Given the description of an element on the screen output the (x, y) to click on. 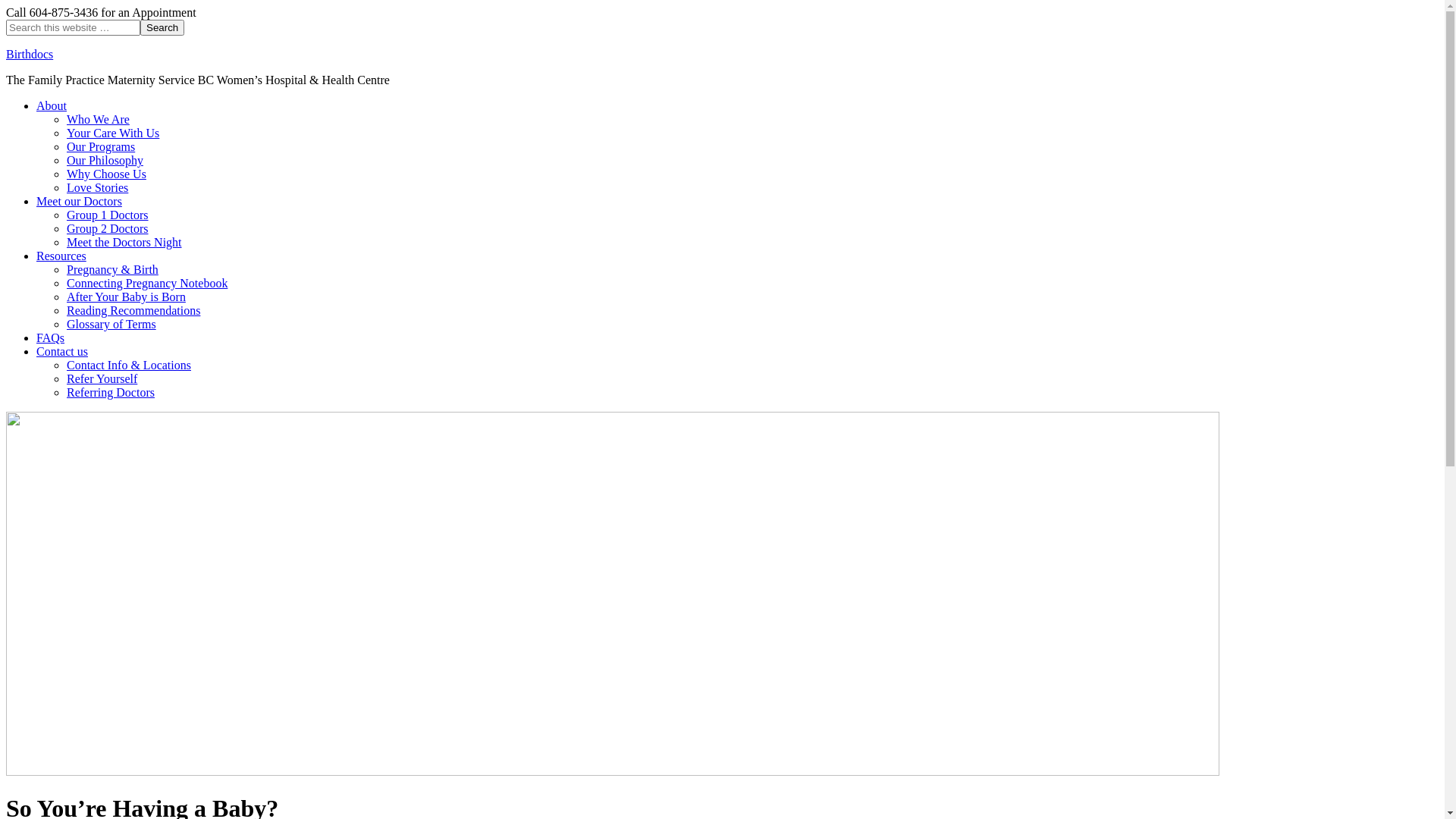
Reading Recommendations Element type: text (133, 310)
Birthdocs Element type: text (29, 53)
Why Choose Us Element type: text (106, 173)
Contact Info & Locations Element type: text (128, 364)
About Element type: text (51, 105)
Who We Are Element type: text (97, 118)
Love Stories Element type: text (97, 187)
Our Philosophy Element type: text (104, 159)
Meet our Doctors Element type: text (79, 200)
Meet the Doctors Night Element type: text (124, 241)
Search Element type: text (162, 27)
Group 2 Doctors Element type: text (107, 228)
Connecting Pregnancy Notebook Element type: text (146, 282)
Your Care With Us Element type: text (112, 132)
Contact us Element type: text (61, 351)
Referring Doctors Element type: text (110, 391)
Glossary of Terms Element type: text (111, 323)
Group 1 Doctors Element type: text (107, 214)
After Your Baby is Born Element type: text (125, 296)
FAQs Element type: text (50, 337)
Refer Yourself Element type: text (101, 378)
Our Programs Element type: text (100, 146)
Pregnancy & Birth Element type: text (112, 269)
Resources Element type: text (61, 255)
